Given the description of an element on the screen output the (x, y) to click on. 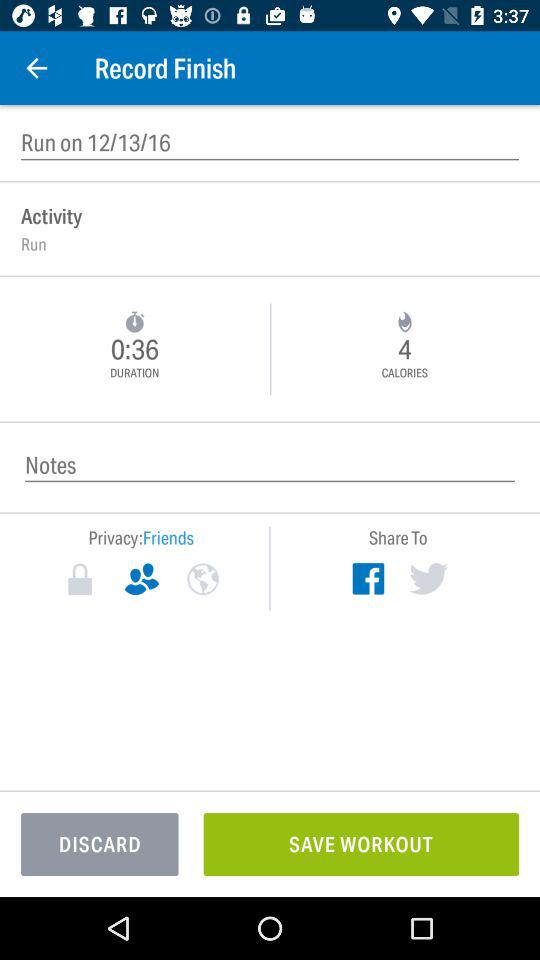
share to twitter (428, 578)
